Given the description of an element on the screen output the (x, y) to click on. 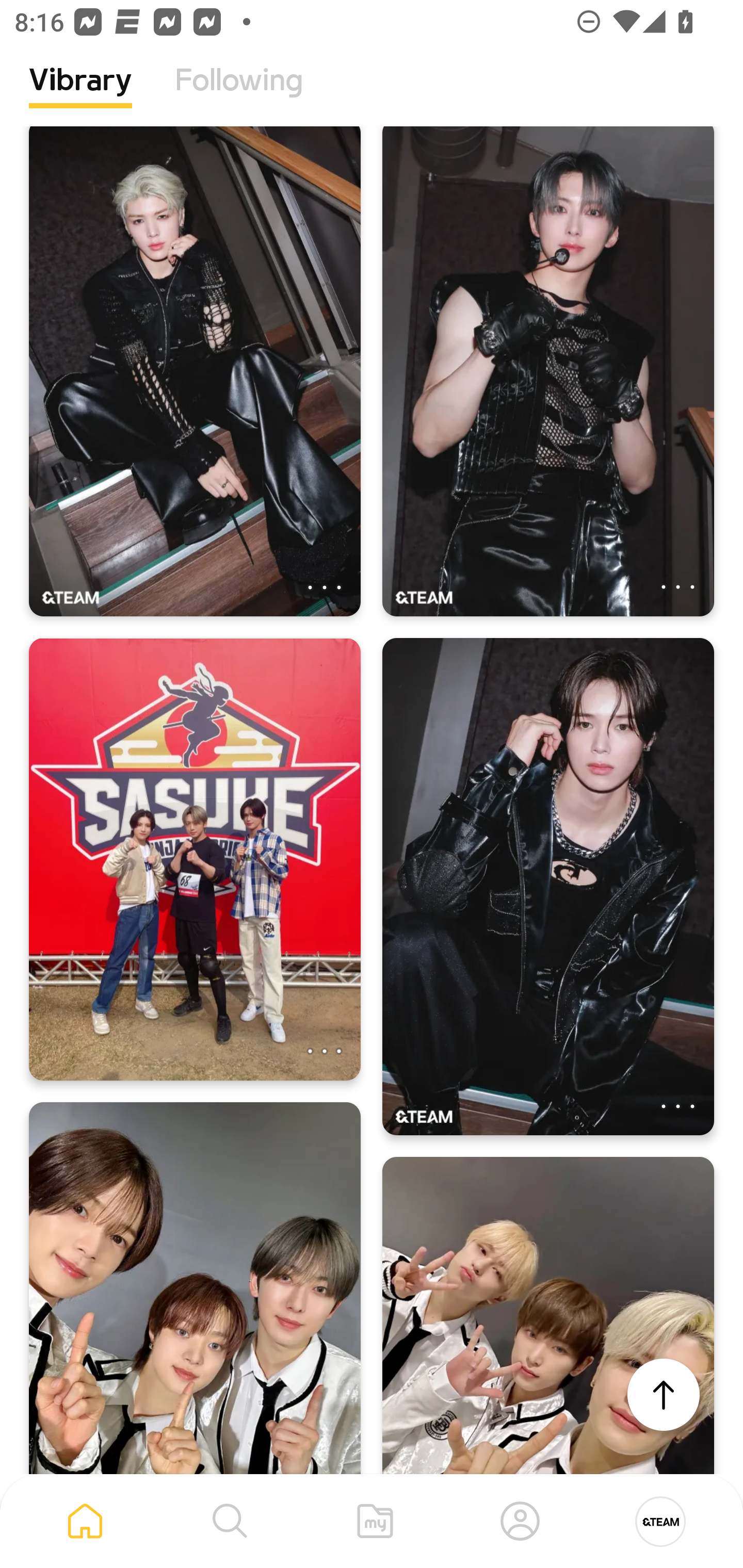
Vibrary (80, 95)
Following (239, 95)
